Given the description of an element on the screen output the (x, y) to click on. 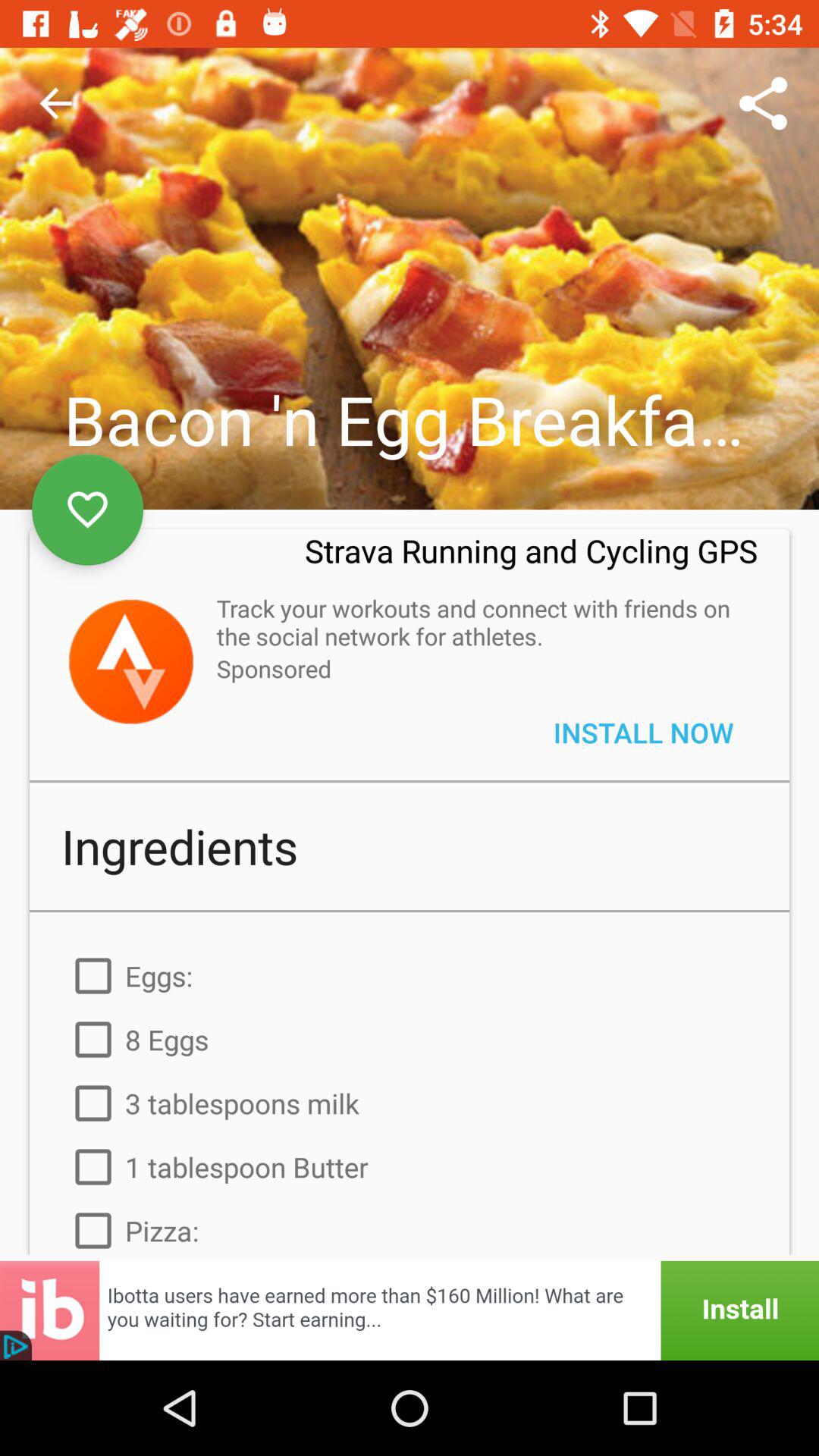
turn off the eggs:  item (409, 975)
